Given the description of an element on the screen output the (x, y) to click on. 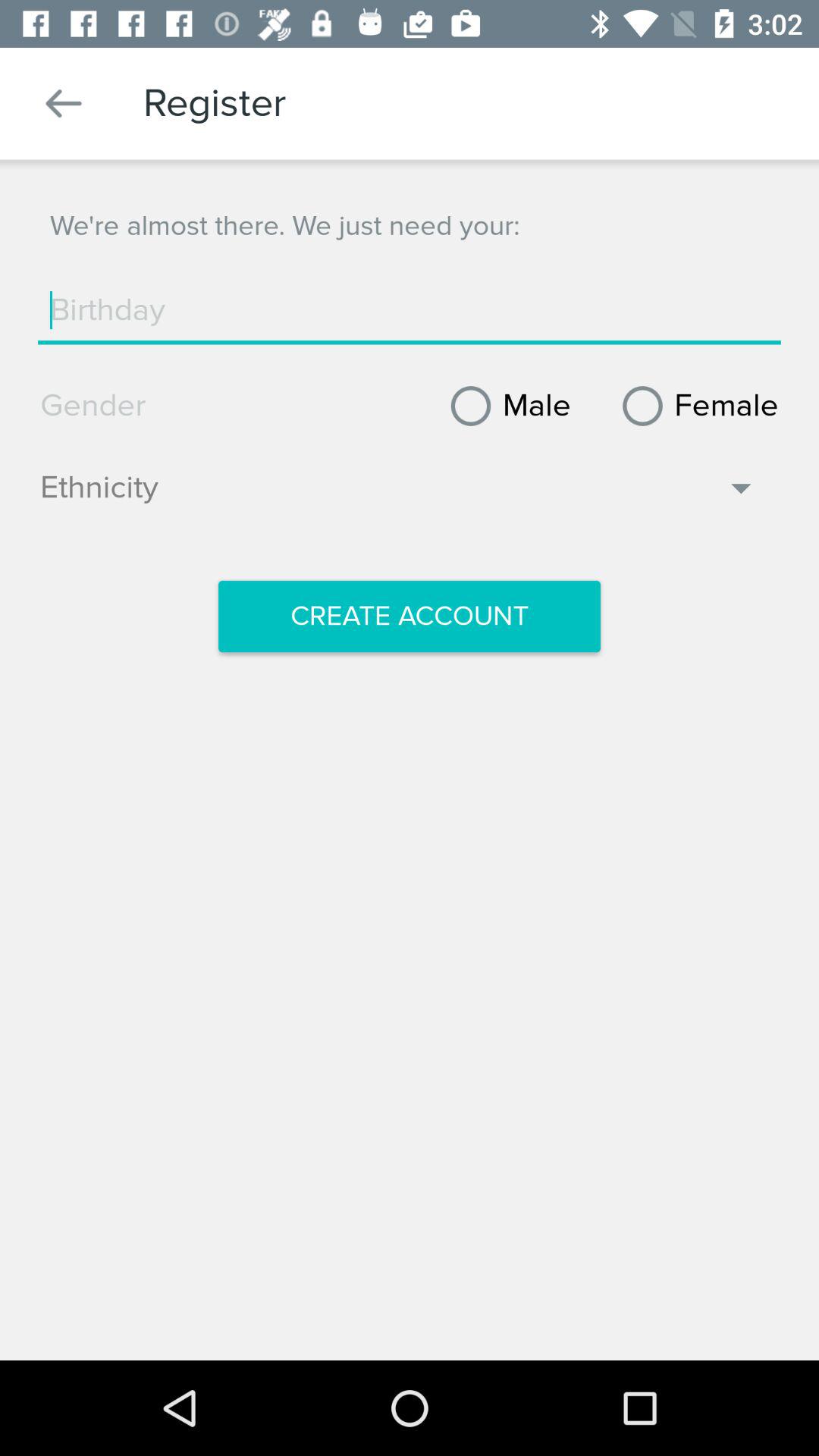
turn on the icon to the right of male item (694, 405)
